Given the description of an element on the screen output the (x, y) to click on. 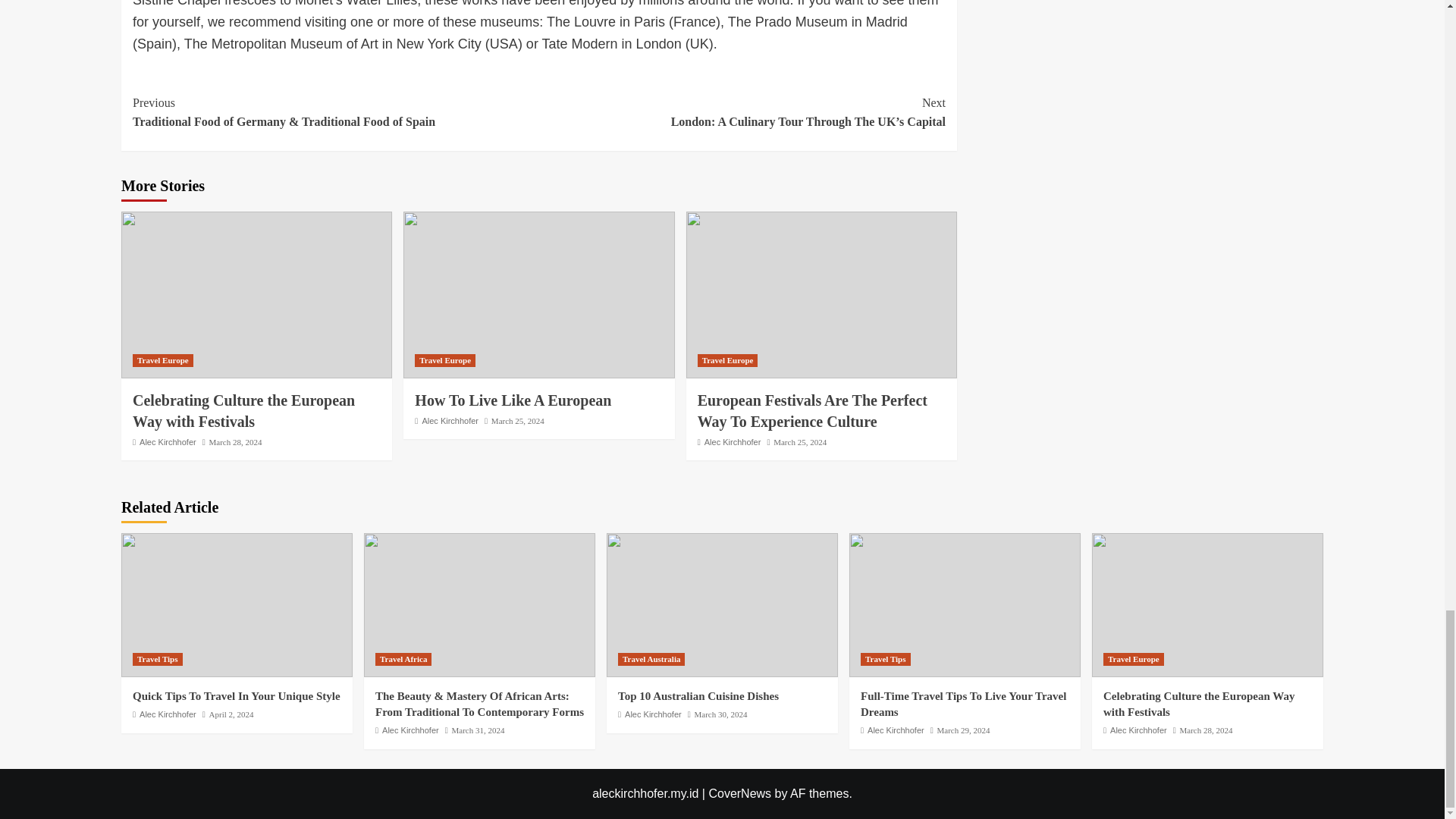
Travel Europe (162, 359)
European Festivals Are The Perfect Way To Experience Culture (812, 410)
Travel Europe (727, 359)
March 25, 2024 (518, 420)
Travel Europe (445, 359)
Alec Kirchhofer (167, 441)
How To Live Like A European (512, 400)
Celebrating Culture the European Way with Festivals (243, 410)
Alec Kirchhofer (732, 441)
March 28, 2024 (235, 441)
Alec Kirchhofer (450, 420)
March 25, 2024 (800, 441)
